Given the description of an element on the screen output the (x, y) to click on. 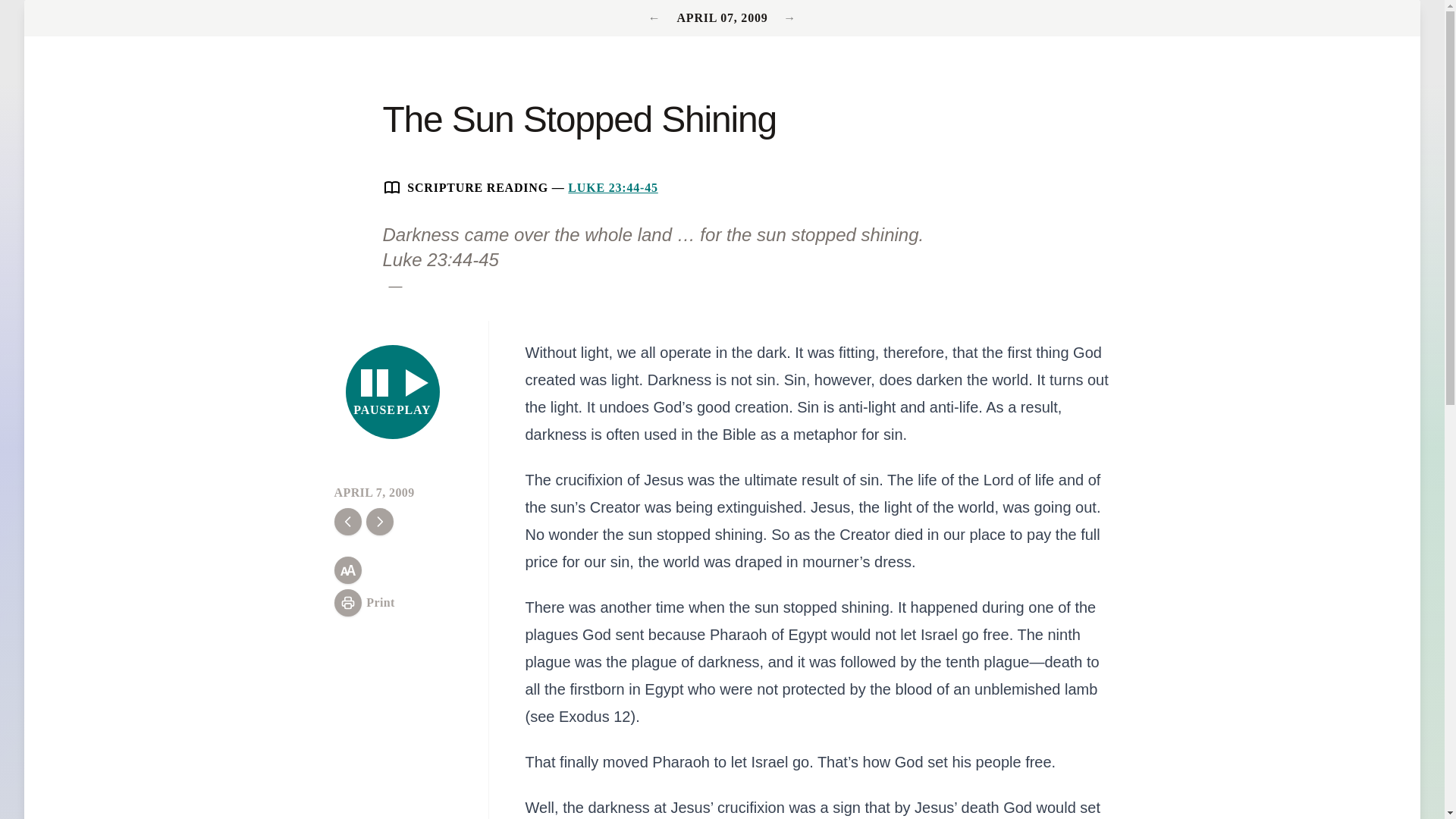
Previous Devotion: April 07, 2009 (789, 17)
Print (363, 602)
Previous Devotion: April 06, 2009 (656, 17)
LUKE 23:44-45 (392, 391)
